Given the description of an element on the screen output the (x, y) to click on. 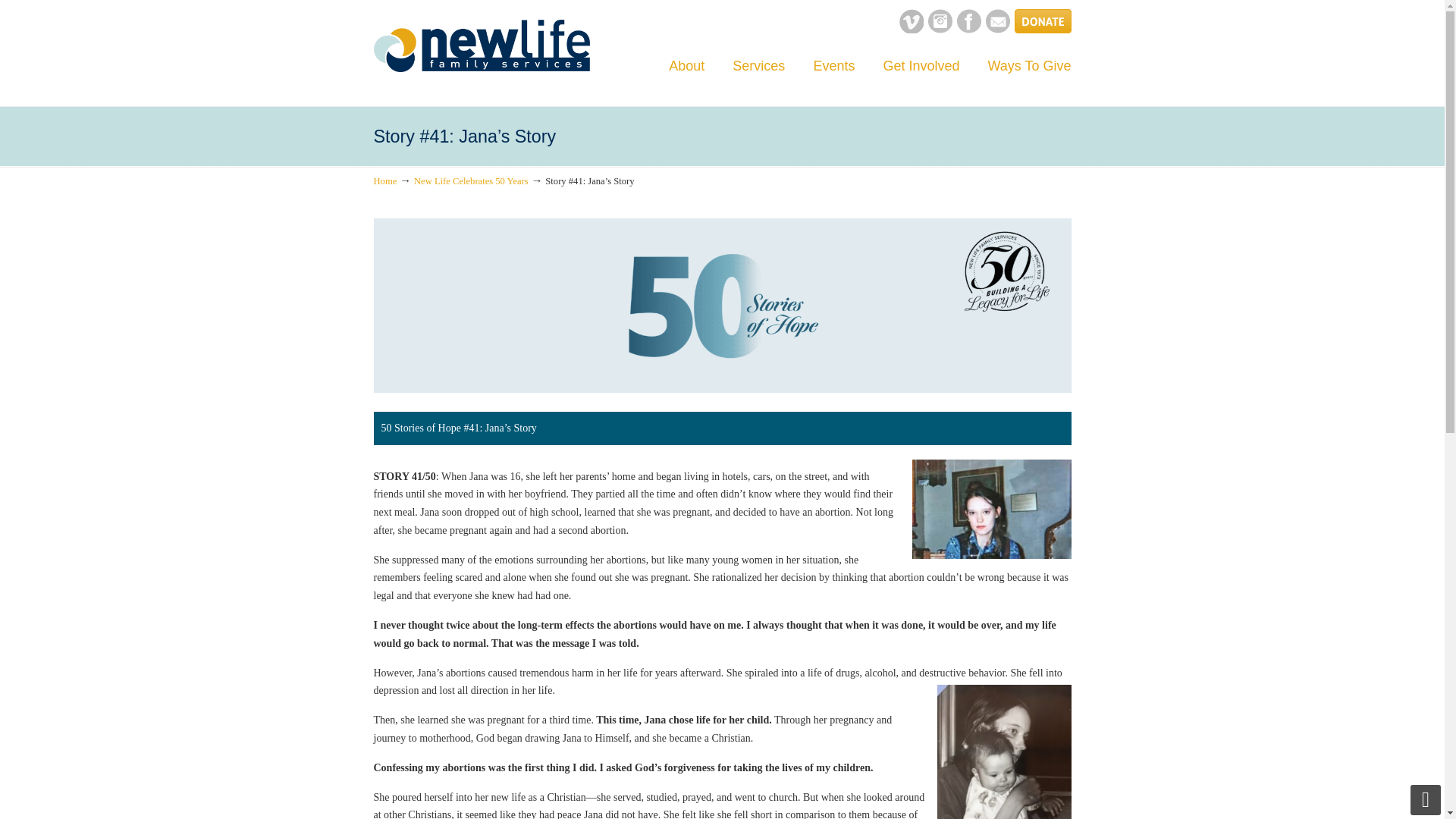
Home (384, 181)
Vimeo (911, 30)
New Life Celebrates 50 Years (470, 181)
Get Involved (920, 65)
New Life Family Services (480, 45)
About (686, 65)
Ways To Give (1029, 65)
New Life Family Services (480, 45)
Donate (1042, 30)
Services (758, 65)
